Given the description of an element on the screen output the (x, y) to click on. 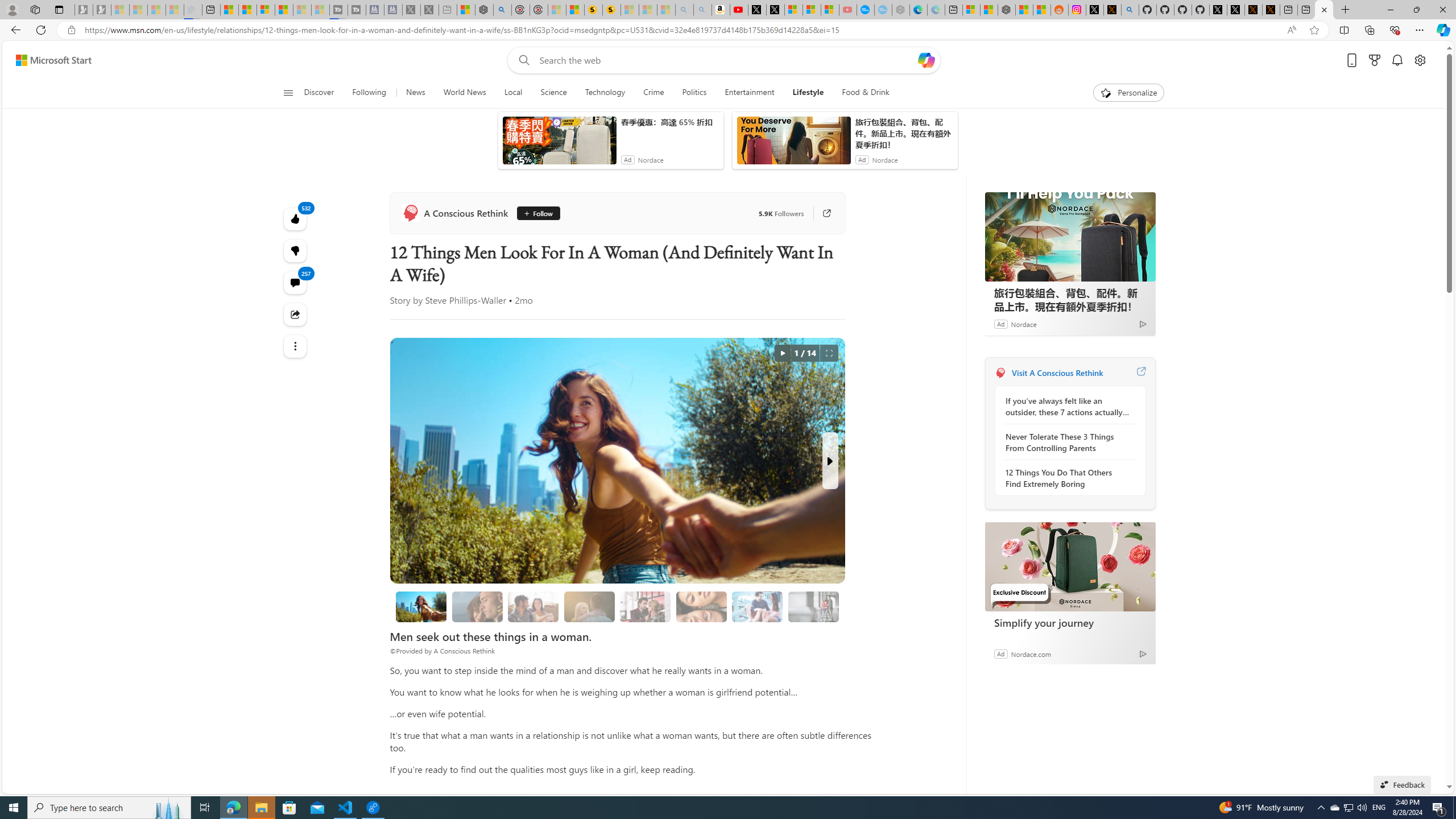
Personalize your feed" (1054, 151)
Shopping (705, 151)
Learning (658, 151)
View comments 509 Comment (708, 326)
Feed settings (1128, 151)
Autos (851, 151)
Overview (265, 9)
